Given the description of an element on the screen output the (x, y) to click on. 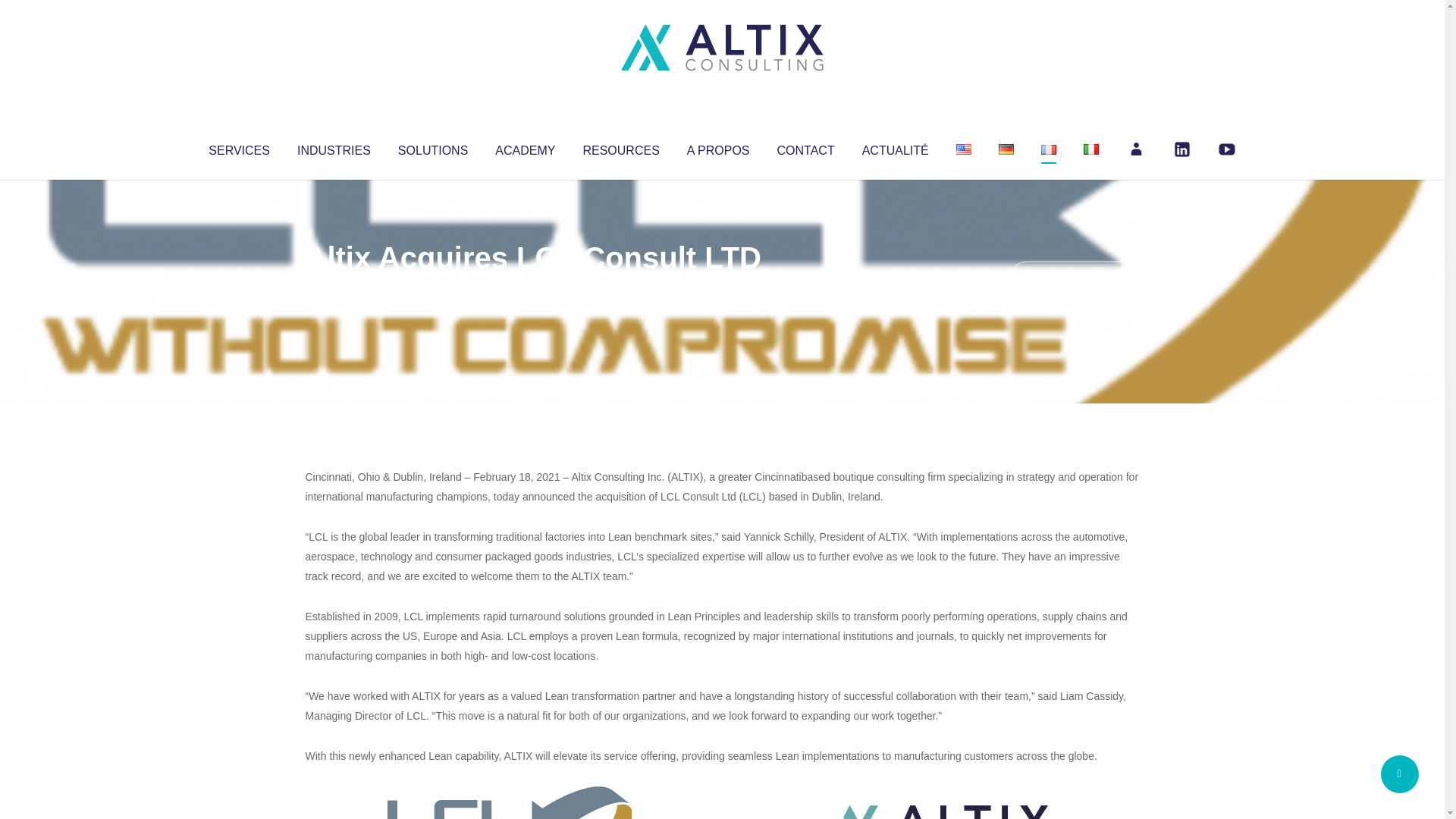
ACADEMY (524, 146)
SOLUTIONS (432, 146)
No Comments (1073, 278)
RESOURCES (620, 146)
INDUSTRIES (334, 146)
Altix (333, 287)
SERVICES (238, 146)
Uncategorized (530, 287)
Articles par Altix (333, 287)
A PROPOS (718, 146)
